Given the description of an element on the screen output the (x, y) to click on. 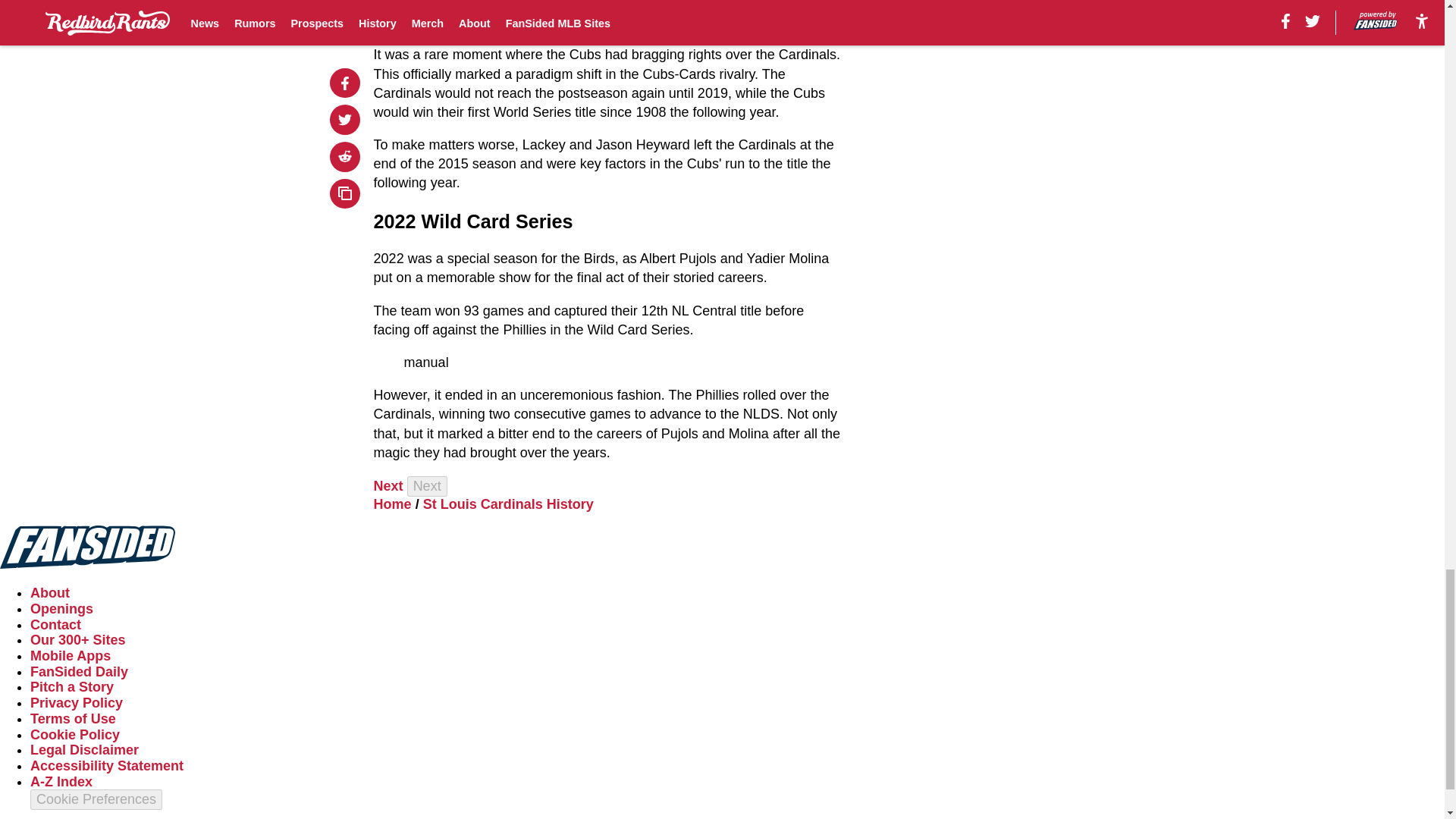
Next (426, 485)
Next (388, 485)
Home (393, 503)
St Louis Cardinals History (508, 503)
